Given the description of an element on the screen output the (x, y) to click on. 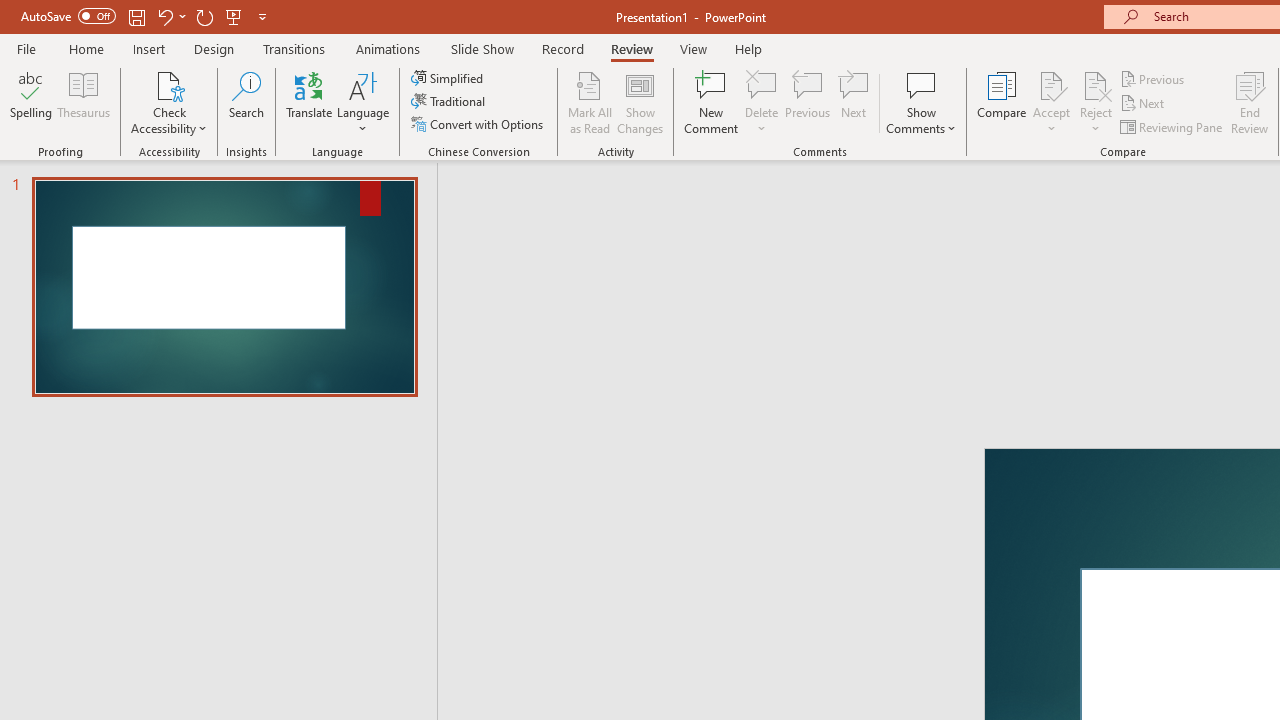
Language (363, 102)
Accept (1051, 102)
Traditional (449, 101)
Show Comments (921, 102)
File Tab (26, 48)
Accept Change (1051, 84)
Transitions (294, 48)
AutoSave (68, 16)
Compare (1002, 102)
Mark All as Read (589, 102)
Help (748, 48)
Delete (762, 84)
Quick Access Toolbar (145, 16)
